Given the description of an element on the screen output the (x, y) to click on. 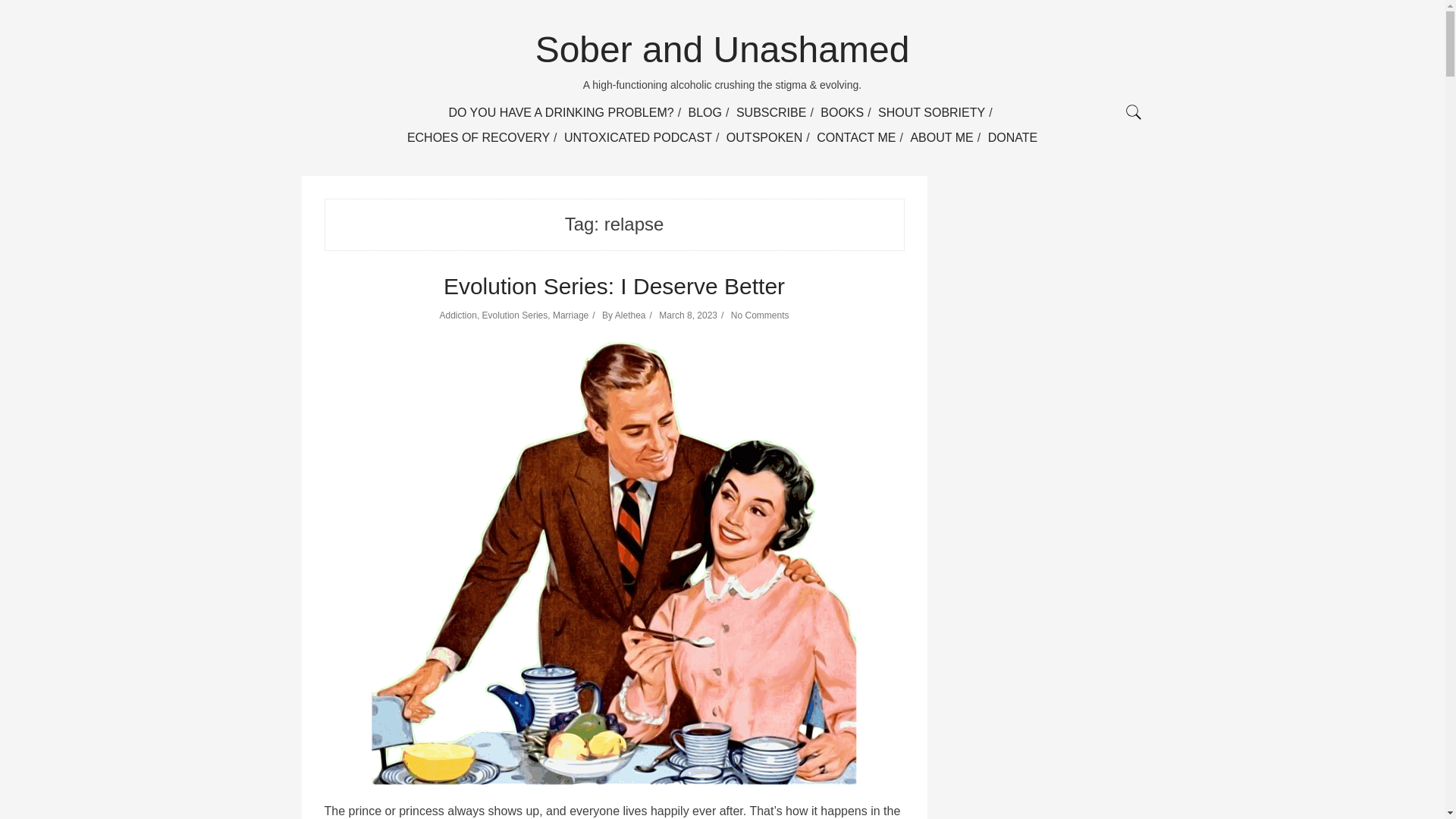
Sober and Unashamed (722, 49)
Evolution Series: I Deserve Better (614, 285)
ECHOES OF RECOVERY (478, 137)
SUBSCRIBE (771, 112)
Evolution Series (514, 315)
OUTSPOKEN (764, 137)
Marriage (570, 315)
CONTACT ME (855, 137)
ABOUT ME (941, 137)
DO YOU HAVE A DRINKING PROBLEM? (560, 112)
